Given the description of an element on the screen output the (x, y) to click on. 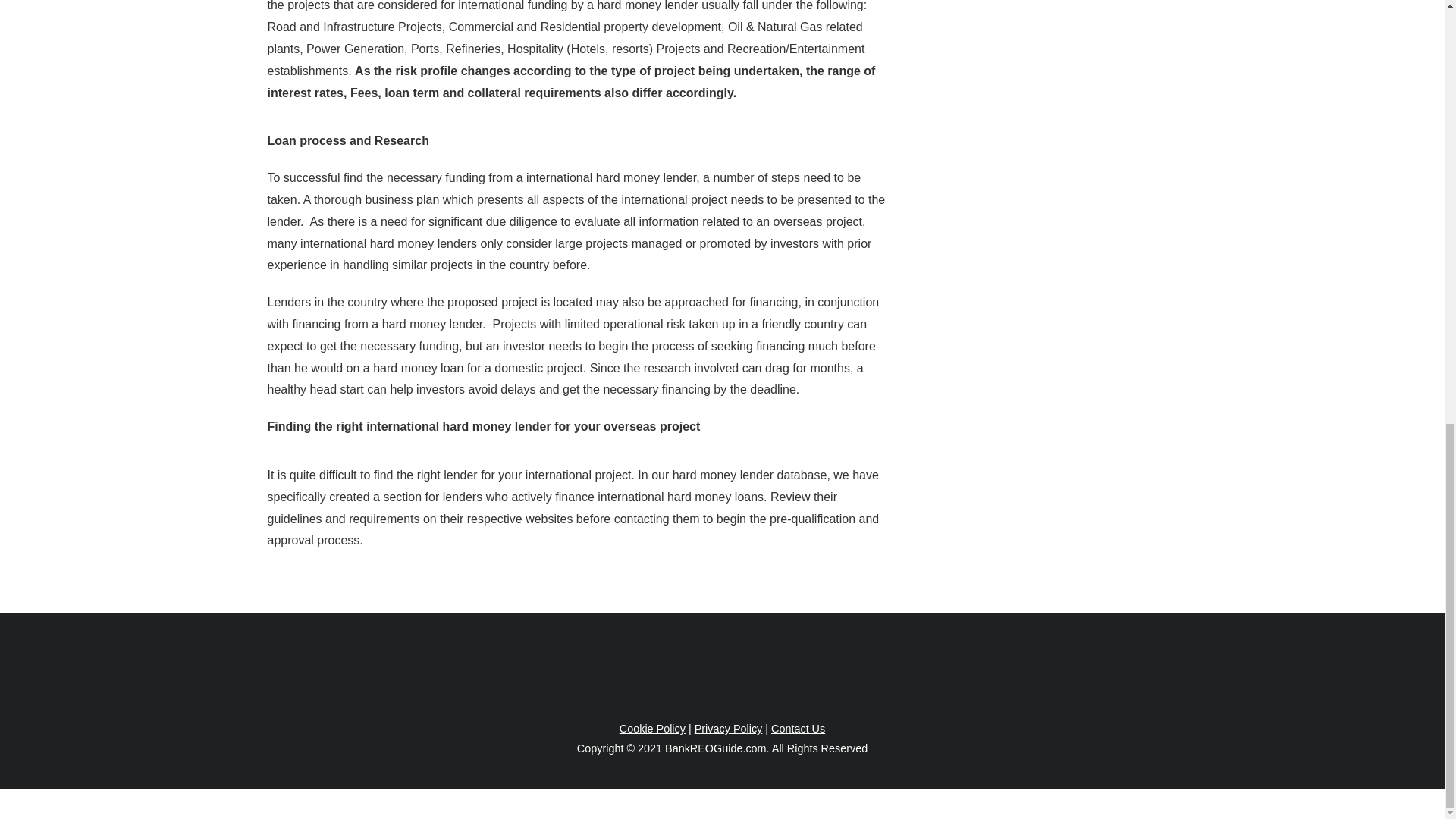
Contact Us (798, 728)
Privacy Policy (728, 728)
Cookie Policy (652, 728)
